Given the description of an element on the screen output the (x, y) to click on. 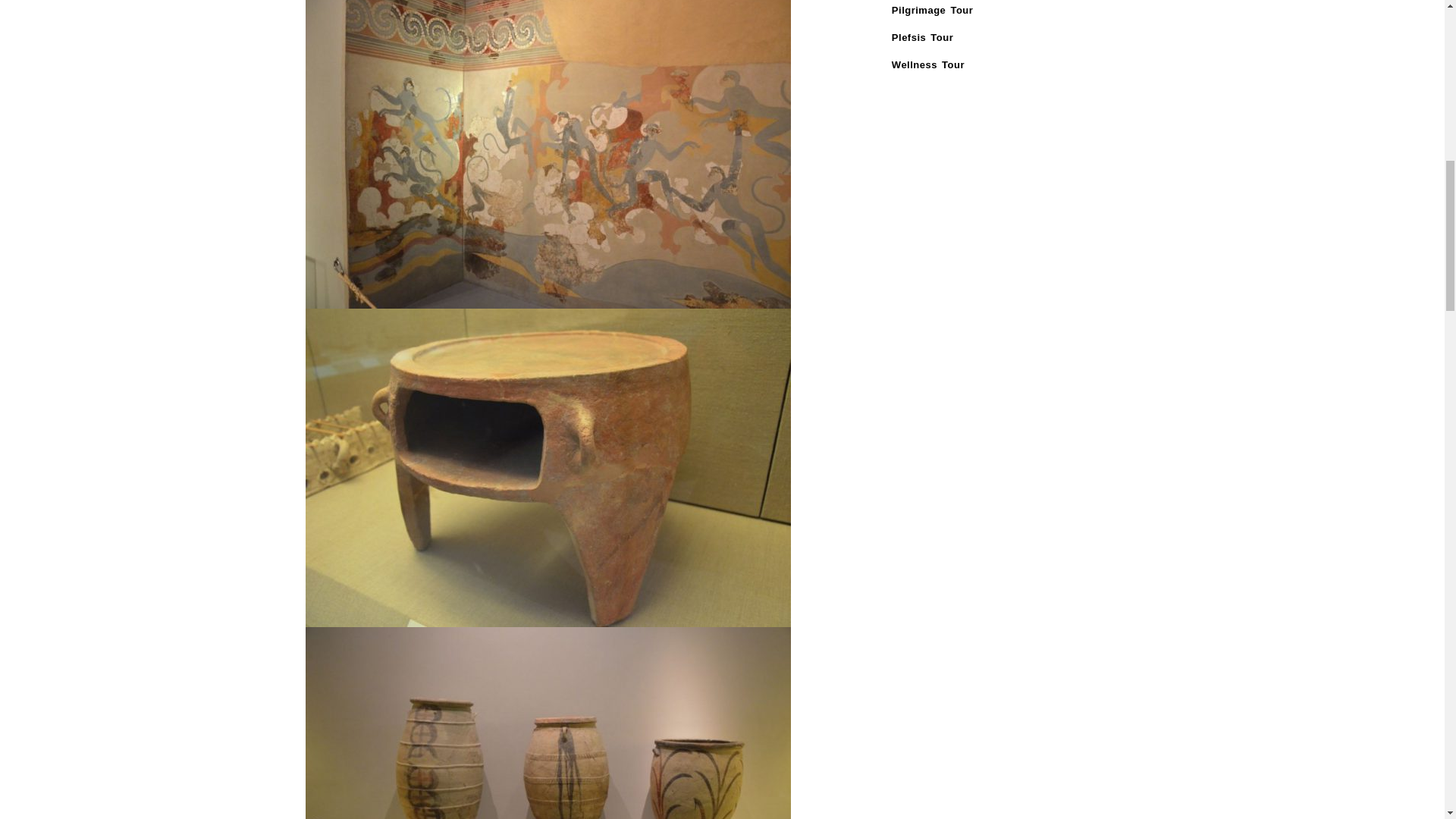
mouseio-proistorikis-thiras3 (547, 723)
